Given the description of an element on the screen output the (x, y) to click on. 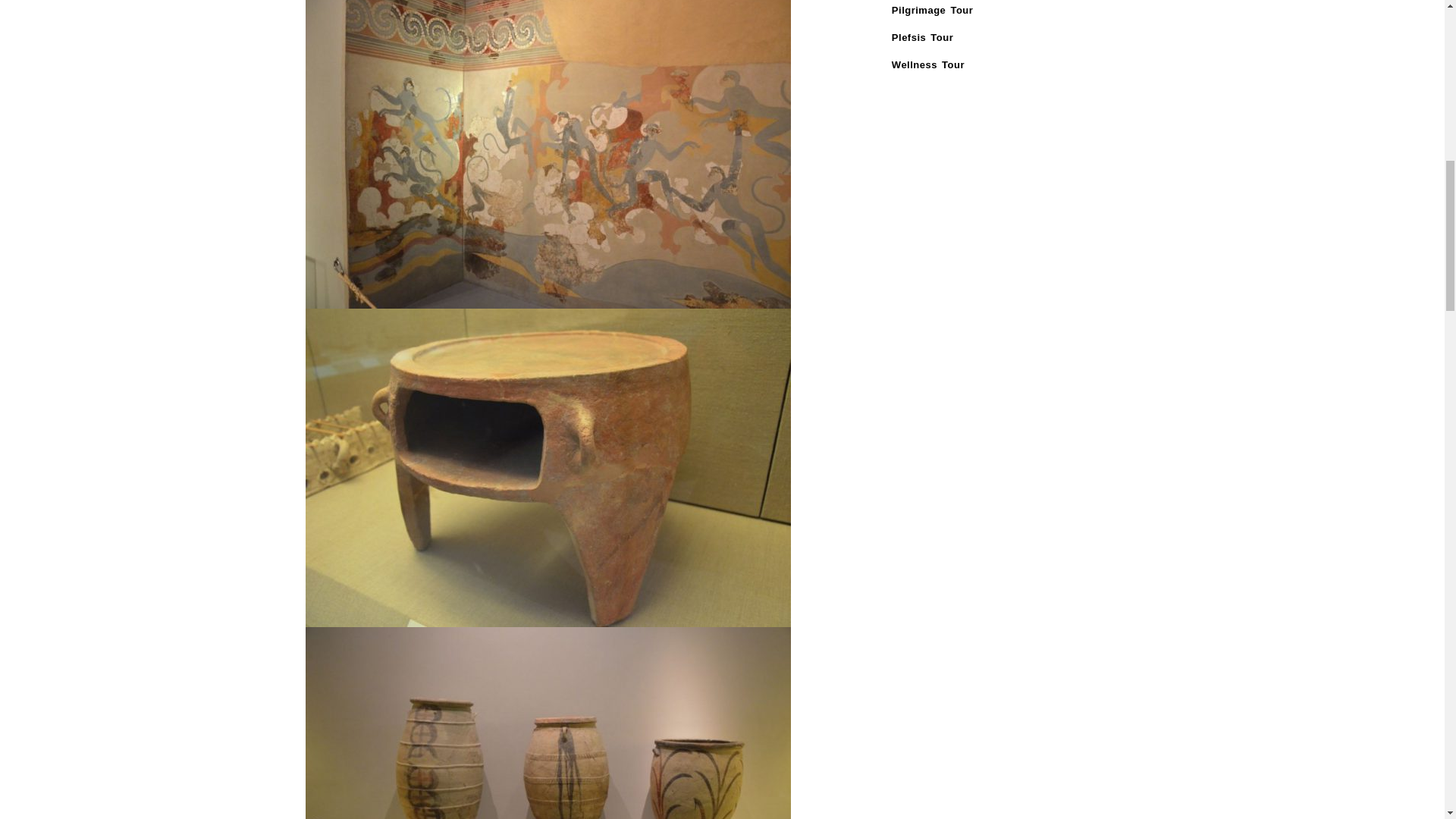
mouseio-proistorikis-thiras3 (547, 723)
